Given the description of an element on the screen output the (x, y) to click on. 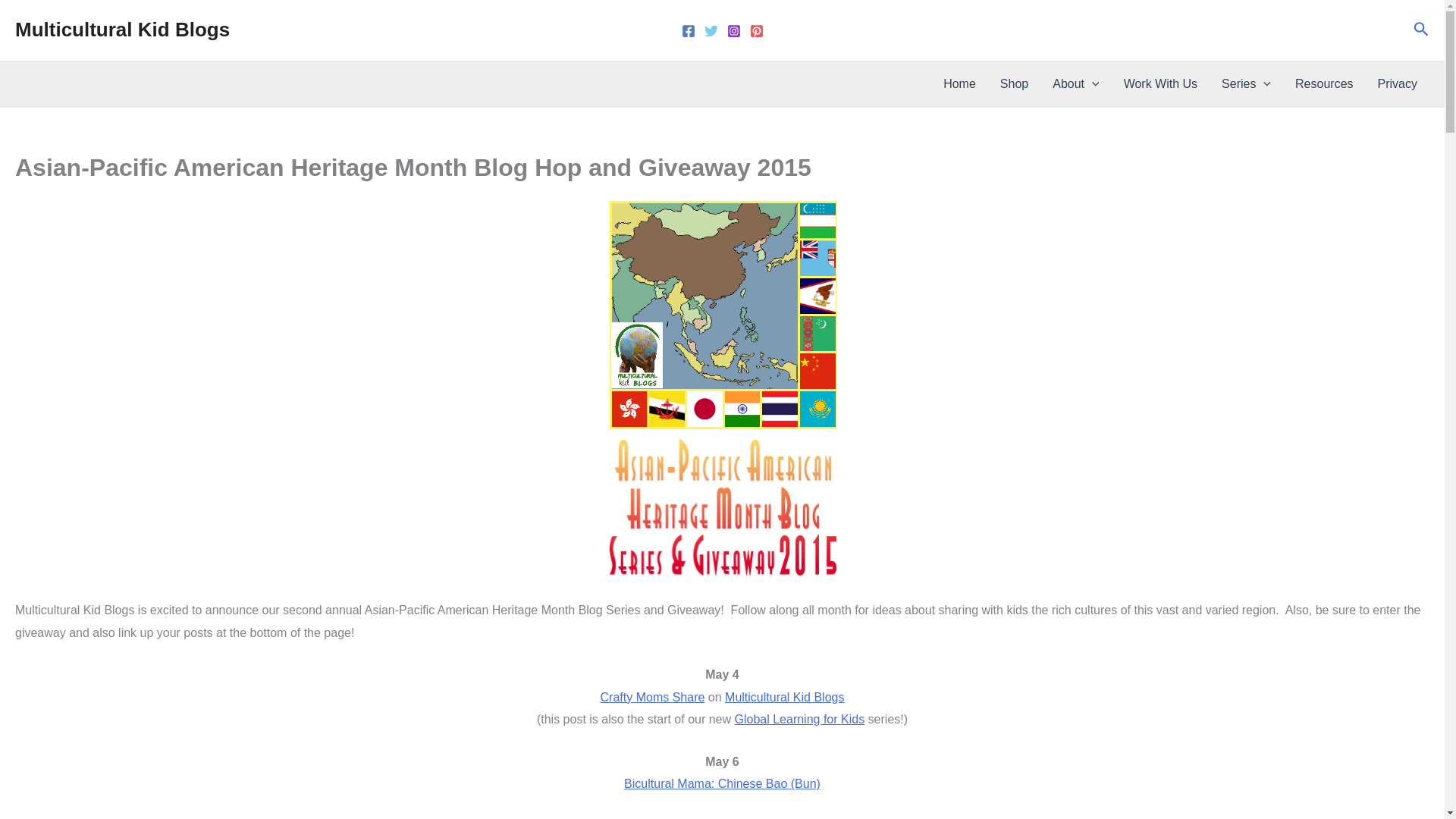
Shop (1014, 84)
Work With Us (1160, 84)
Home (959, 84)
Crafty Moms Share (651, 697)
Global Learning for Kids (798, 718)
Series (1245, 84)
Multicultural Kid Blogs (122, 29)
Bicultural Mama (722, 783)
About (1075, 84)
